Given the description of an element on the screen output the (x, y) to click on. 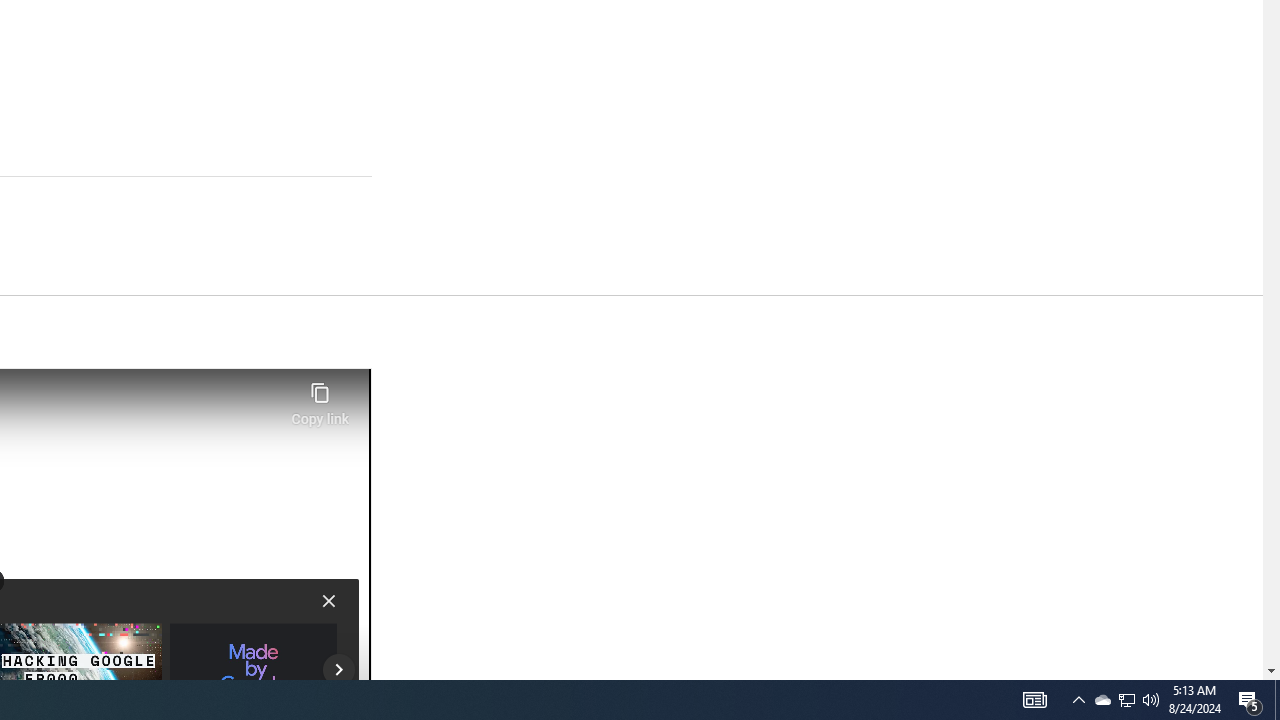
Show more suggested videos (338, 669)
Hide more videos (328, 600)
Copy link (319, 398)
